Given the description of an element on the screen output the (x, y) to click on. 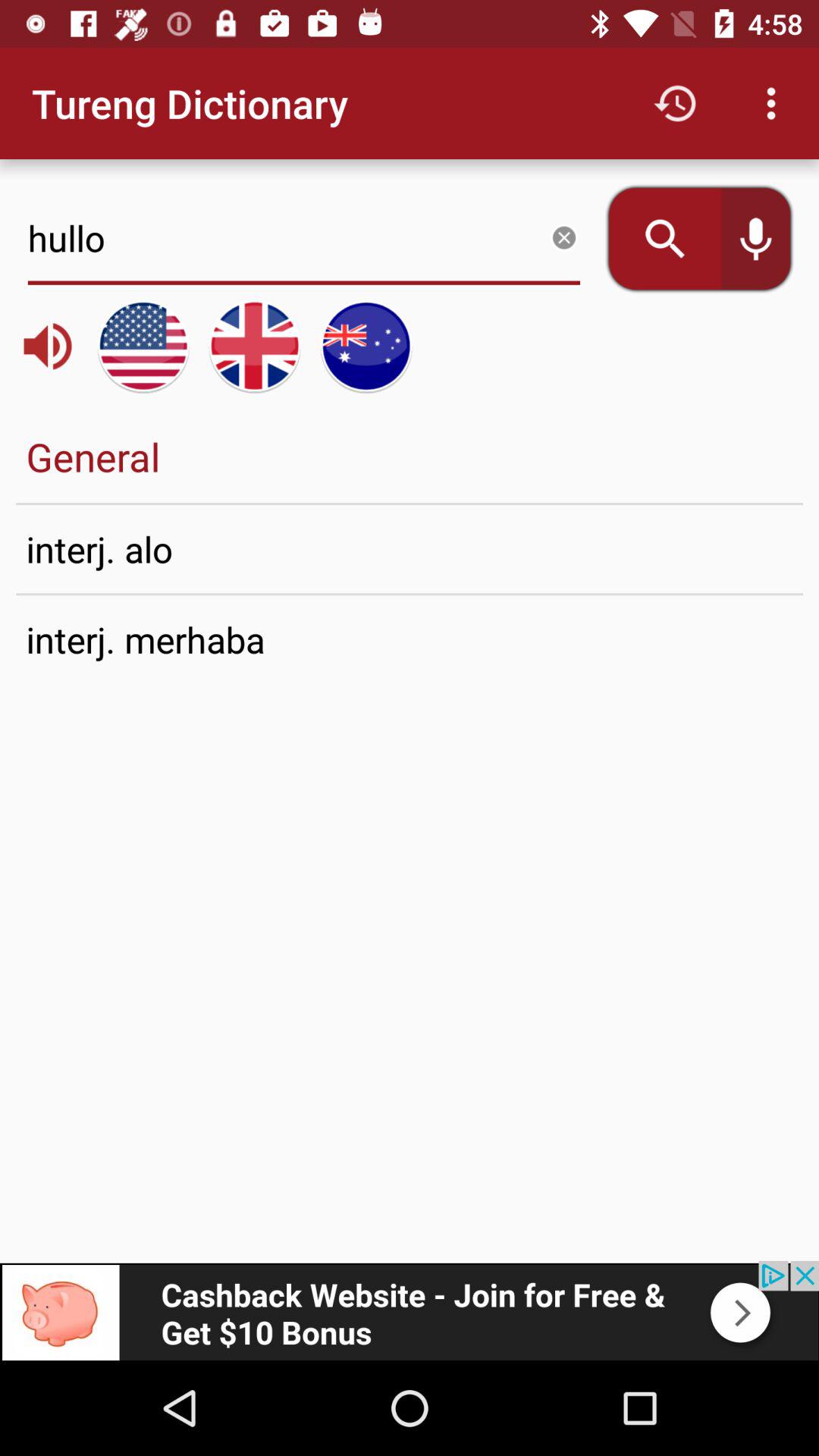
advertisement (409, 1310)
